Given the description of an element on the screen output the (x, y) to click on. 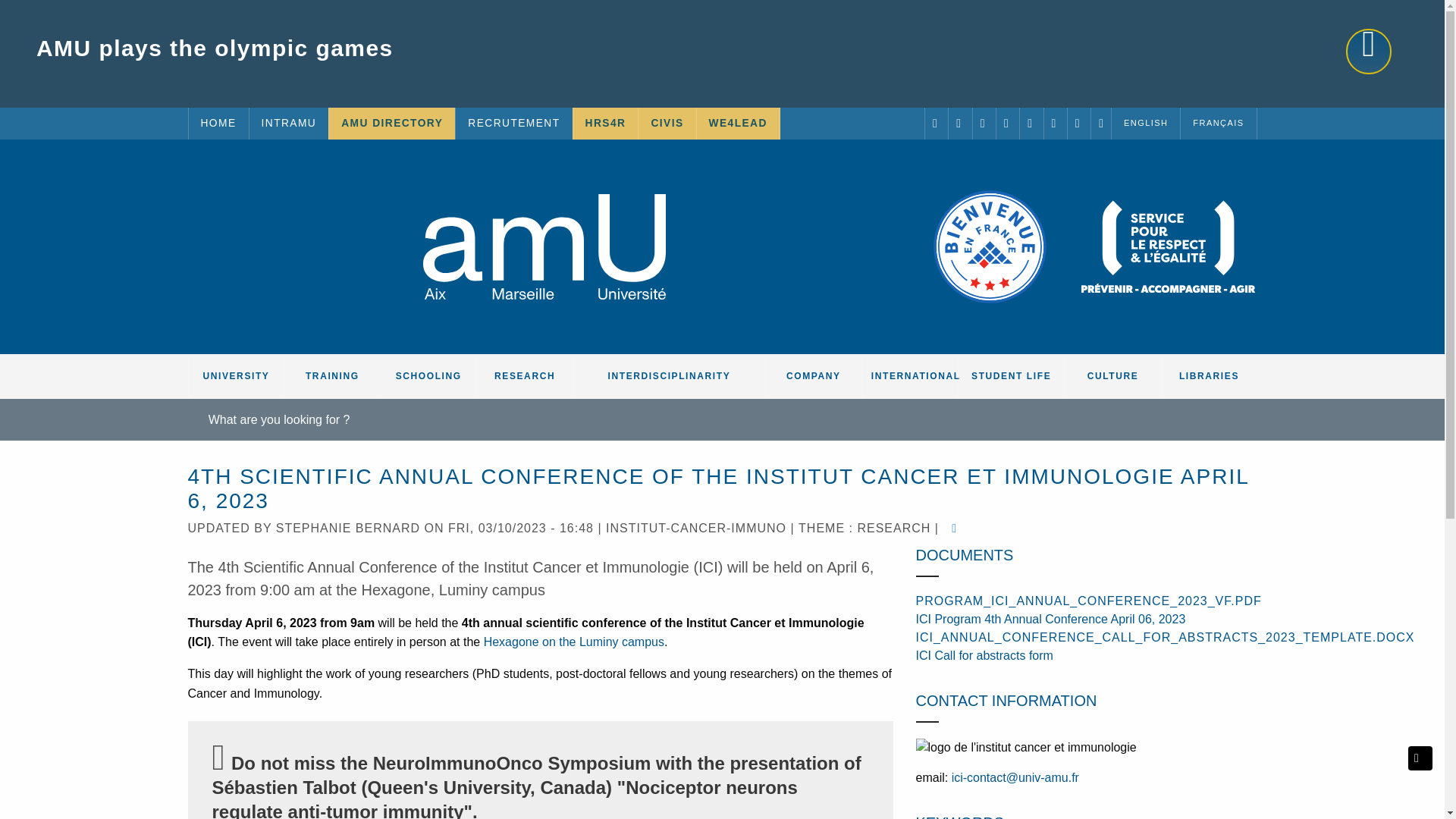
Label Bienvenue en France  (989, 245)
INTRAMU (288, 123)
AMU DIRECTORY (391, 123)
UNIVERSITY (235, 375)
WE4LEAD (737, 123)
RECRUTEMENT (513, 123)
HOME (217, 123)
Home (544, 245)
Recherche (680, 416)
HRS4R (606, 123)
